Given the description of an element on the screen output the (x, y) to click on. 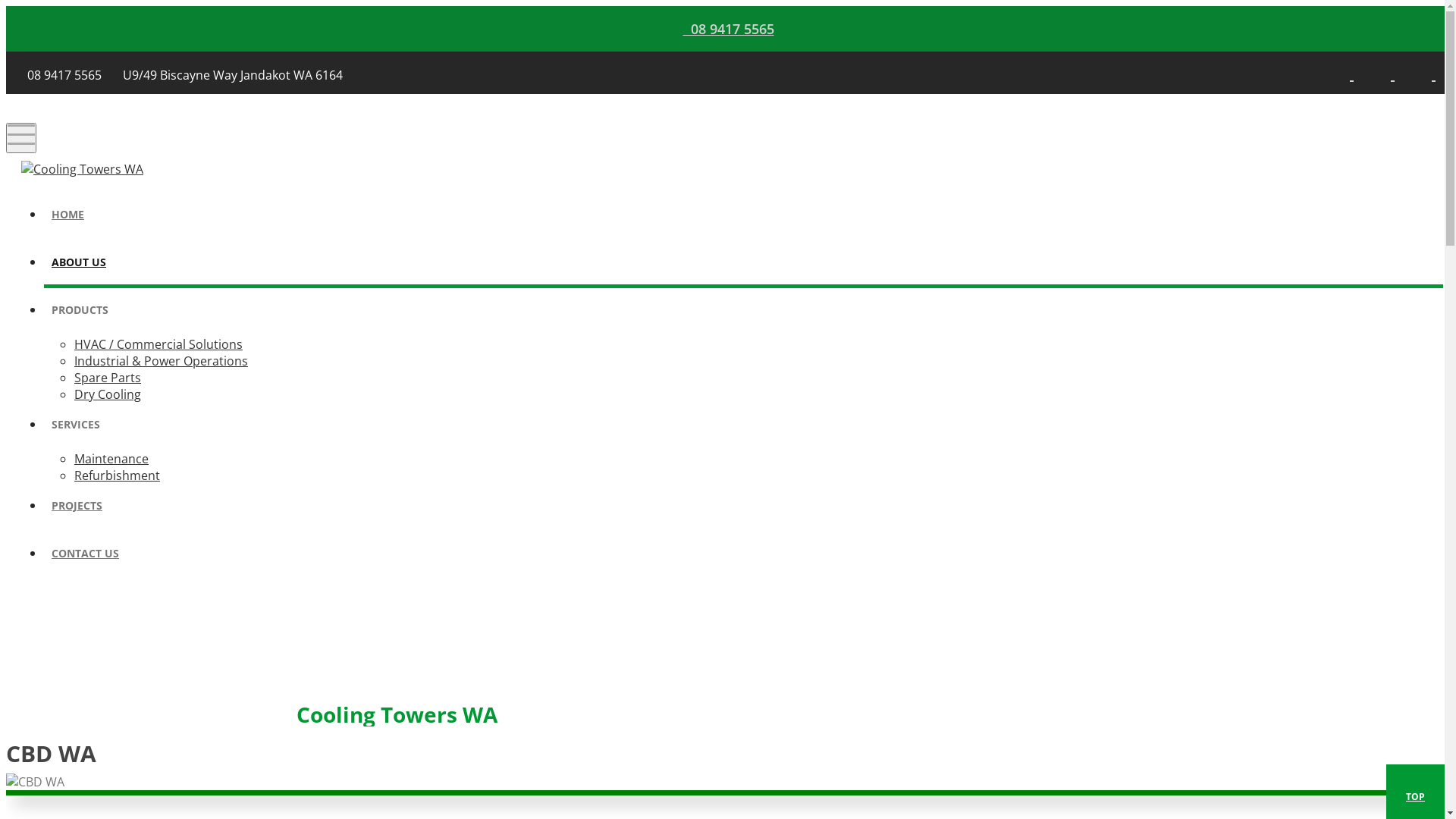
CONTACT US Element type: text (746, 555)
  Element type: text (1431, 73)
HVAC / Commercial Solutions Element type: text (158, 343)
  Element type: text (1390, 73)
  Element type: text (1349, 73)
Spare Parts Element type: text (107, 377)
PROJECTS Element type: text (743, 507)
HOME Element type: text (743, 216)
ABOUT US Element type: text (743, 264)
  08 9417 5565 Element type: text (728, 28)
Industrial & Power Operations Element type: text (160, 360)
Dry Cooling Element type: text (107, 393)
Maintenance Element type: text (111, 458)
Refurbishment Element type: text (117, 475)
